Given the description of an element on the screen output the (x, y) to click on. 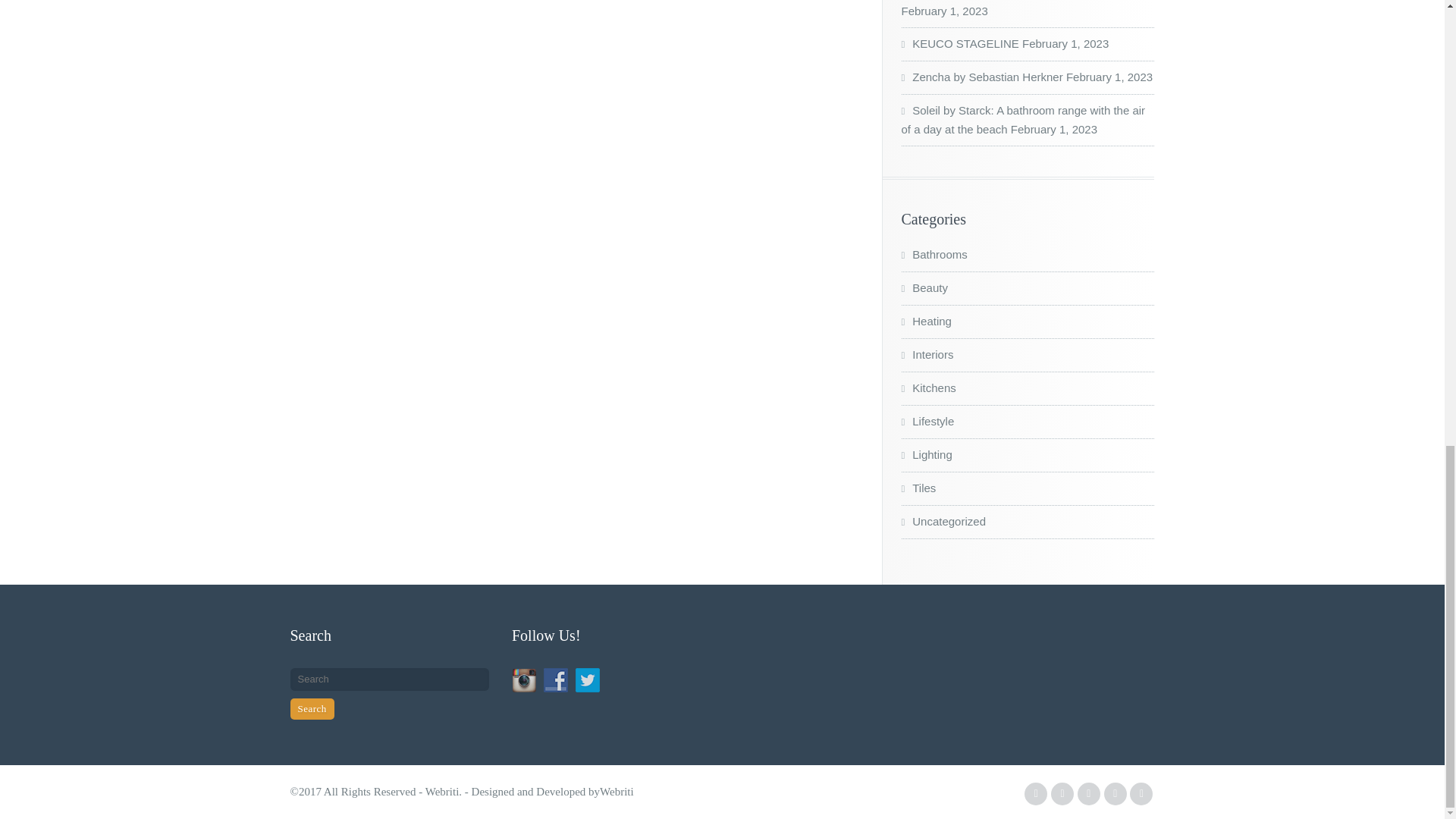
Facebook (1035, 793)
Search (311, 708)
Follow Us on Facebook (555, 680)
Follow Us on Twitter (587, 680)
LinkedIn (1088, 793)
Bathrooms (933, 254)
Beauty (924, 287)
Zencha by Sebastian Herkner (981, 76)
Skype (1141, 793)
Follow Us on Instagram (523, 680)
Search (311, 708)
KEUCO STAGELINE (959, 42)
GooglePlus (1114, 793)
Twitter (1062, 793)
